Given the description of an element on the screen output the (x, y) to click on. 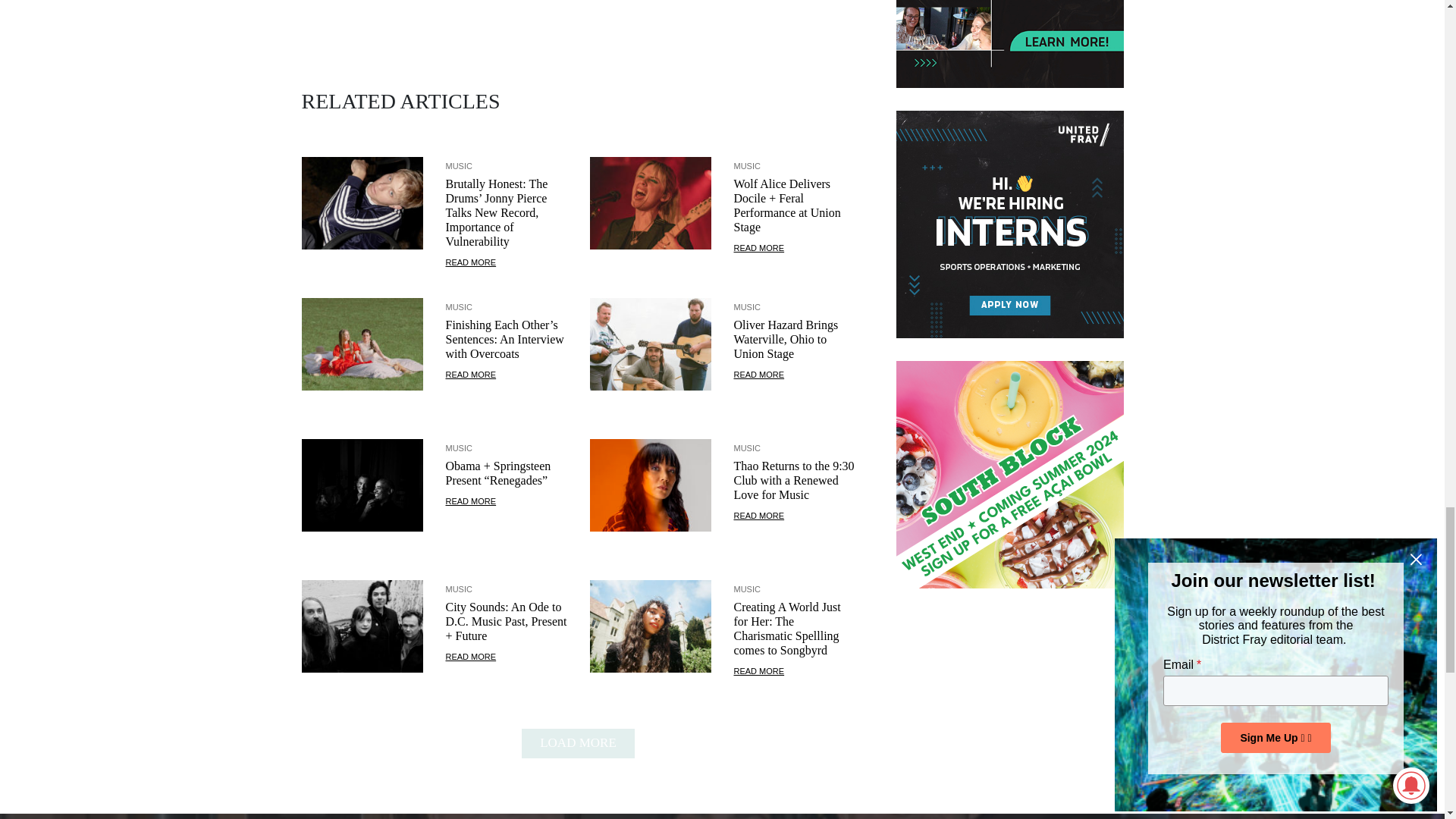
Oliver Hazard Brings Waterville, Ohio to Union Stage (758, 374)
